Given the description of an element on the screen output the (x, y) to click on. 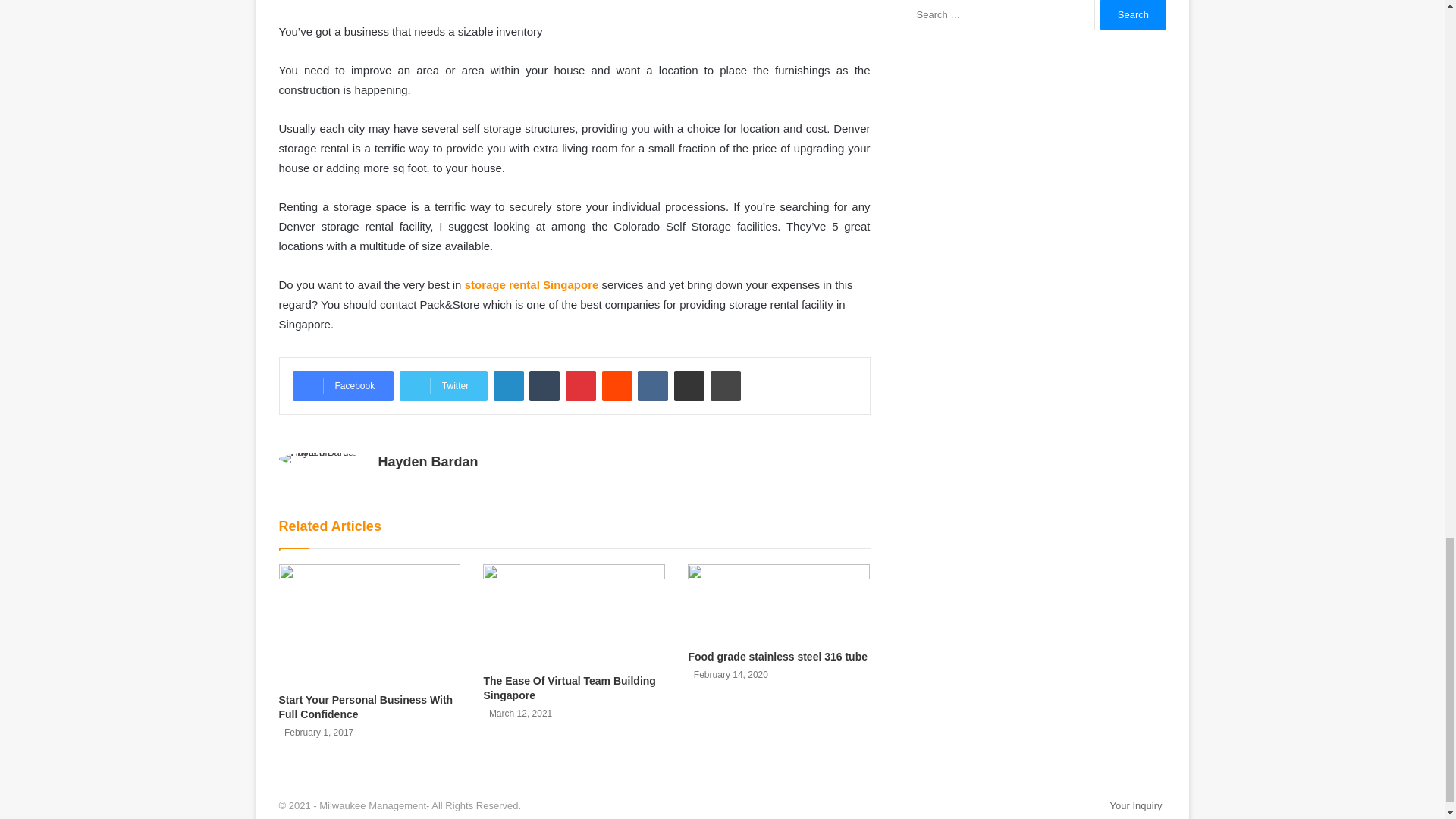
VKontakte (652, 386)
Search (1133, 15)
Search (1133, 15)
Pinterest (580, 386)
storage rental Singapore (531, 284)
Twitter (442, 386)
Facebook (343, 386)
Pinterest (580, 386)
Tumblr (544, 386)
Share via Email (689, 386)
